Given the description of an element on the screen output the (x, y) to click on. 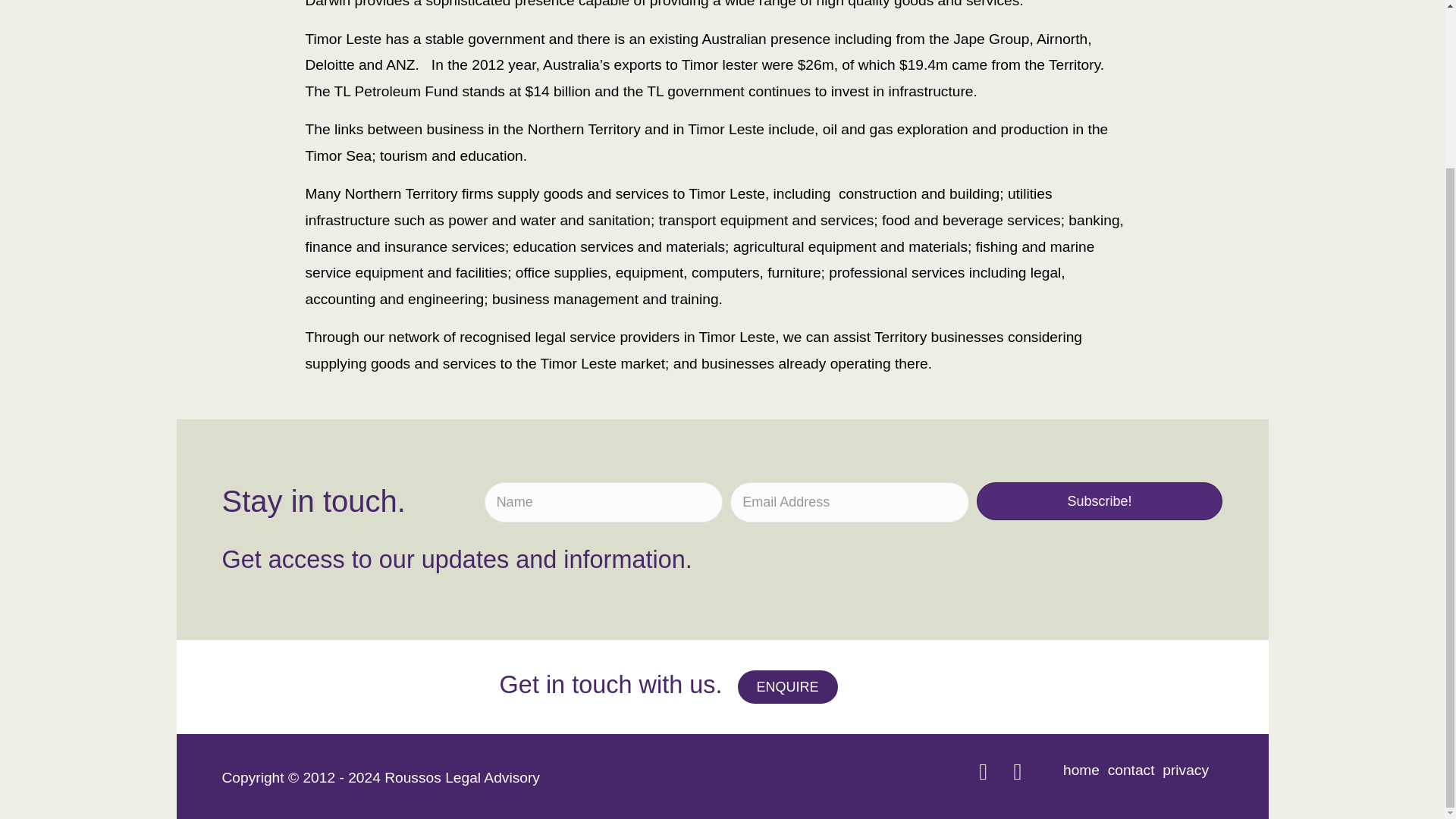
LinkedIn (1017, 771)
Enquire (722, 328)
contact (1131, 770)
ENQUIRE (786, 686)
home (1080, 770)
privacy (1184, 770)
Facebook (983, 771)
Subscribe! (1099, 501)
